Given the description of an element on the screen output the (x, y) to click on. 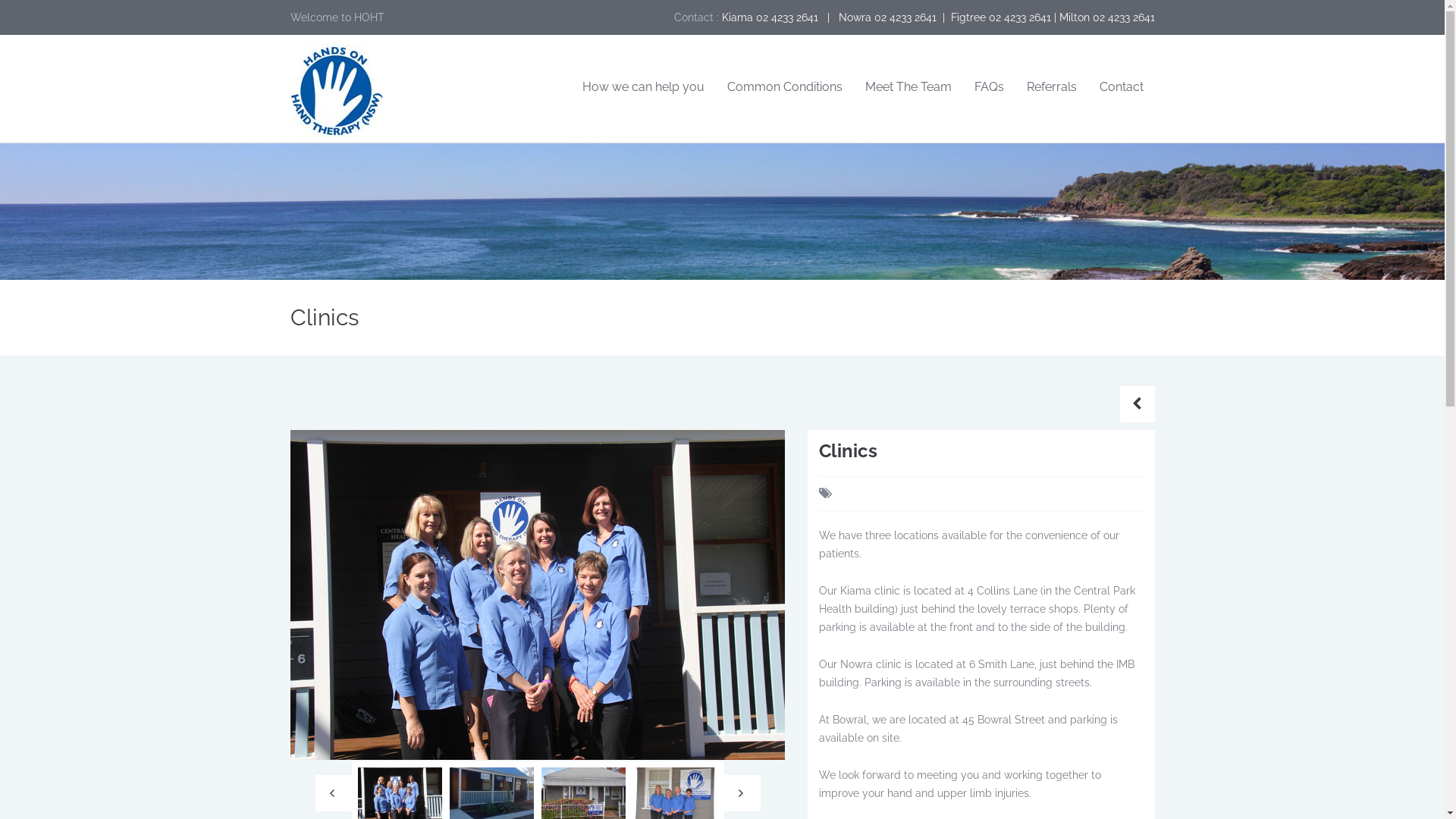
Contact Element type: text (1120, 87)
Common Conditions Element type: text (784, 87)
Referrals Element type: text (1050, 87)
FAQs Element type: text (989, 87)
How we can help you Element type: text (642, 87)
Next Element type: text (742, 793)
Meet The Team Element type: text (908, 87)
Previous Element type: text (333, 793)
